Given the description of an element on the screen output the (x, y) to click on. 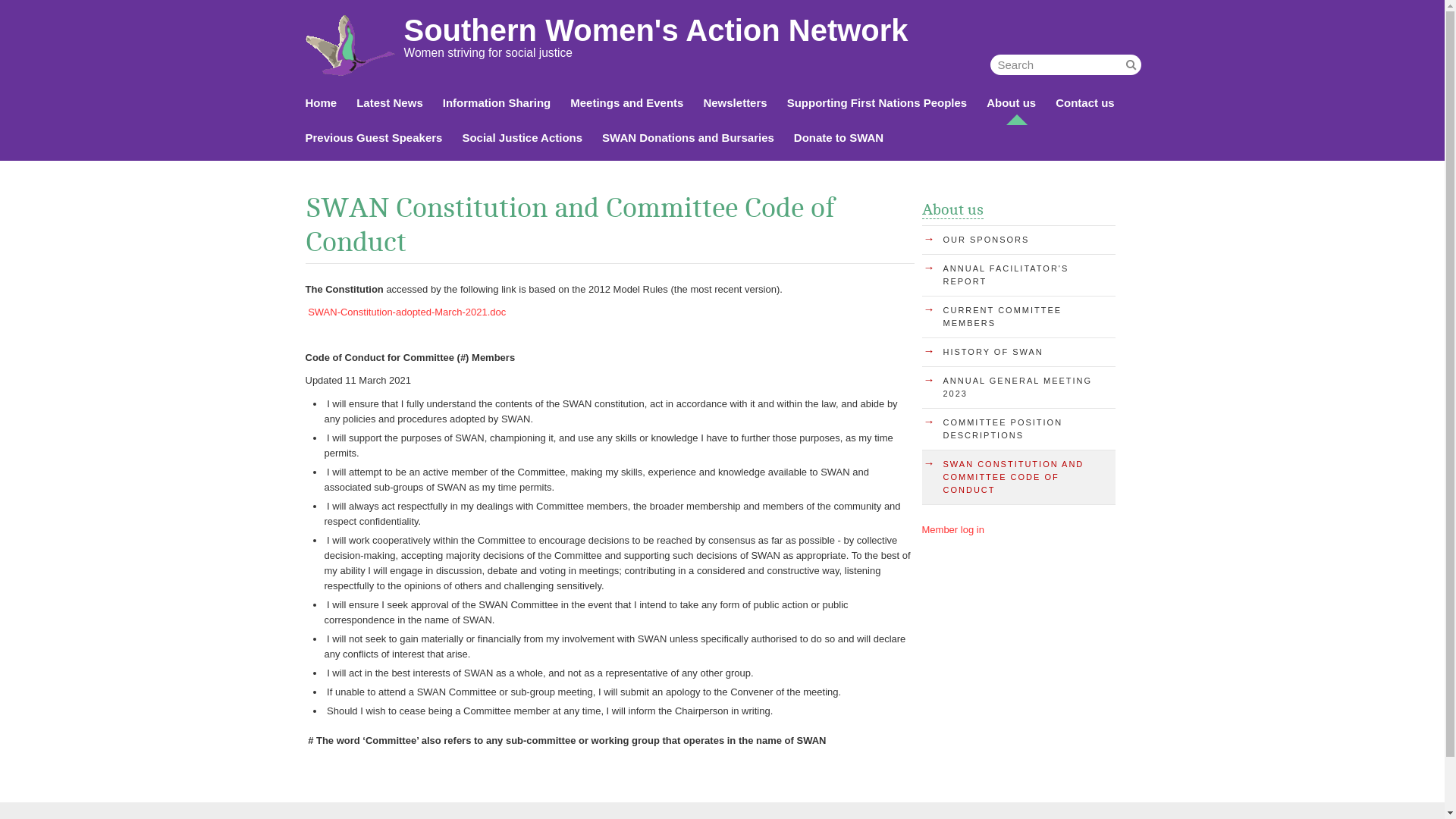
About us Element type: text (952, 209)
Previous Guest Speakers Element type: text (373, 137)
Contact us Element type: text (1084, 103)
L Element type: text (1131, 64)
Supporting First Nations Peoples Element type: text (877, 103)
Social Justice Actions Element type: text (521, 137)
Donate to SWAN Element type: text (838, 137)
SWAN-Constitution-adopted-March-2021.doc   Element type: text (409, 311)
Information Sharing Element type: text (496, 103)
Meetings and Events Element type: text (626, 103)
About us Element type: text (1010, 103)
Home Element type: text (320, 103)
Latest News Element type: text (389, 103)
Member log in Element type: text (953, 529)
Newsletters Element type: text (734, 103)
SWAN Donations and Bursaries Element type: text (688, 137)
